Given the description of an element on the screen output the (x, y) to click on. 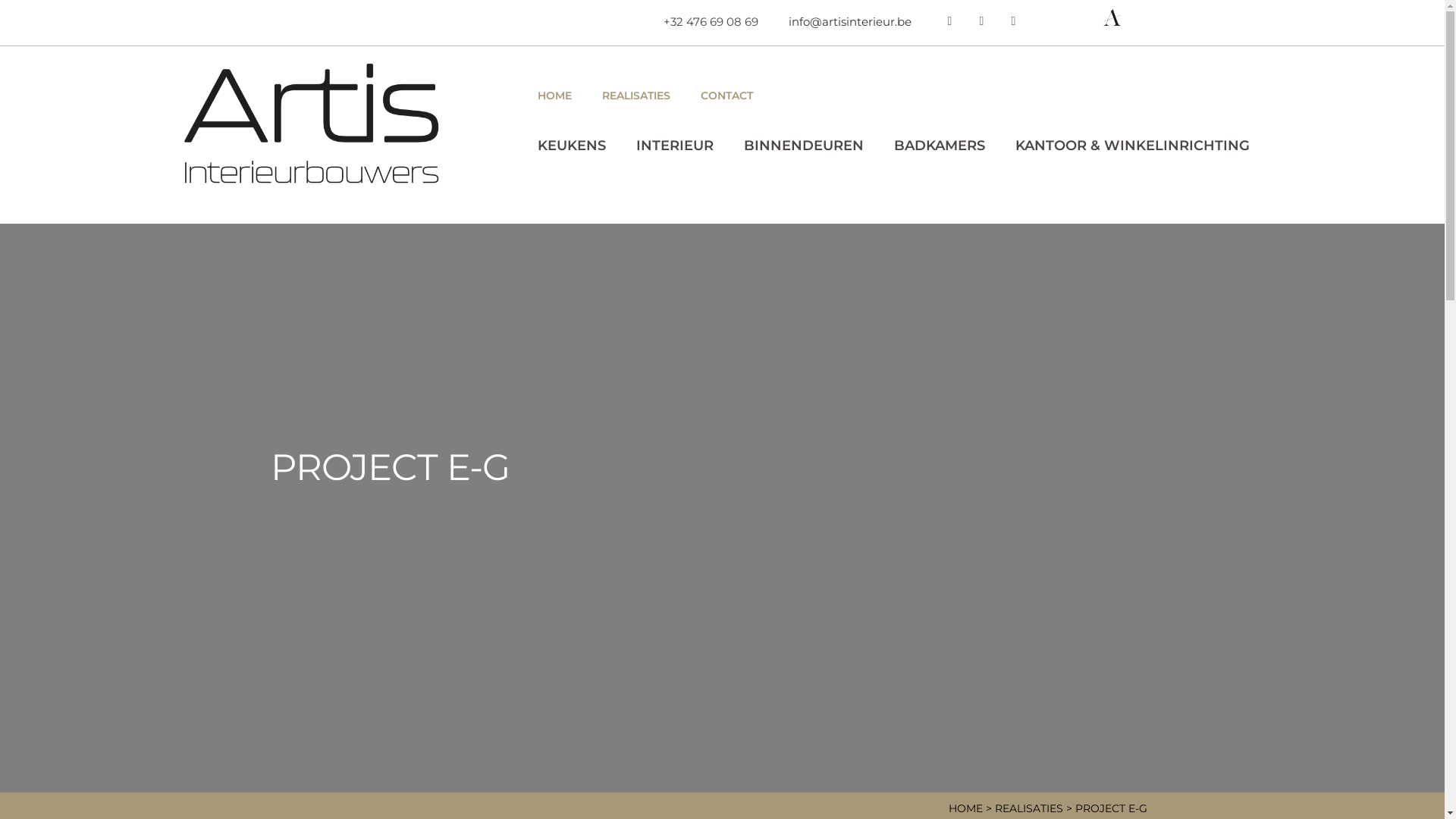
KANTOOR & WINKELINRICHTING Element type: text (1132, 145)
info@artisinterieur.be Element type: text (849, 21)
BADKAMERS Element type: text (939, 145)
BINNENDEUREN Element type: text (803, 145)
REALISATIES Element type: text (635, 95)
HOME Element type: text (964, 808)
HOME Element type: text (554, 95)
REALISATIES Element type: text (1028, 808)
INTERIEUR Element type: text (674, 145)
KEUKENS Element type: text (571, 145)
CONTACT Element type: text (726, 95)
+32 476 69 08 69 Element type: text (709, 21)
